Given the description of an element on the screen output the (x, y) to click on. 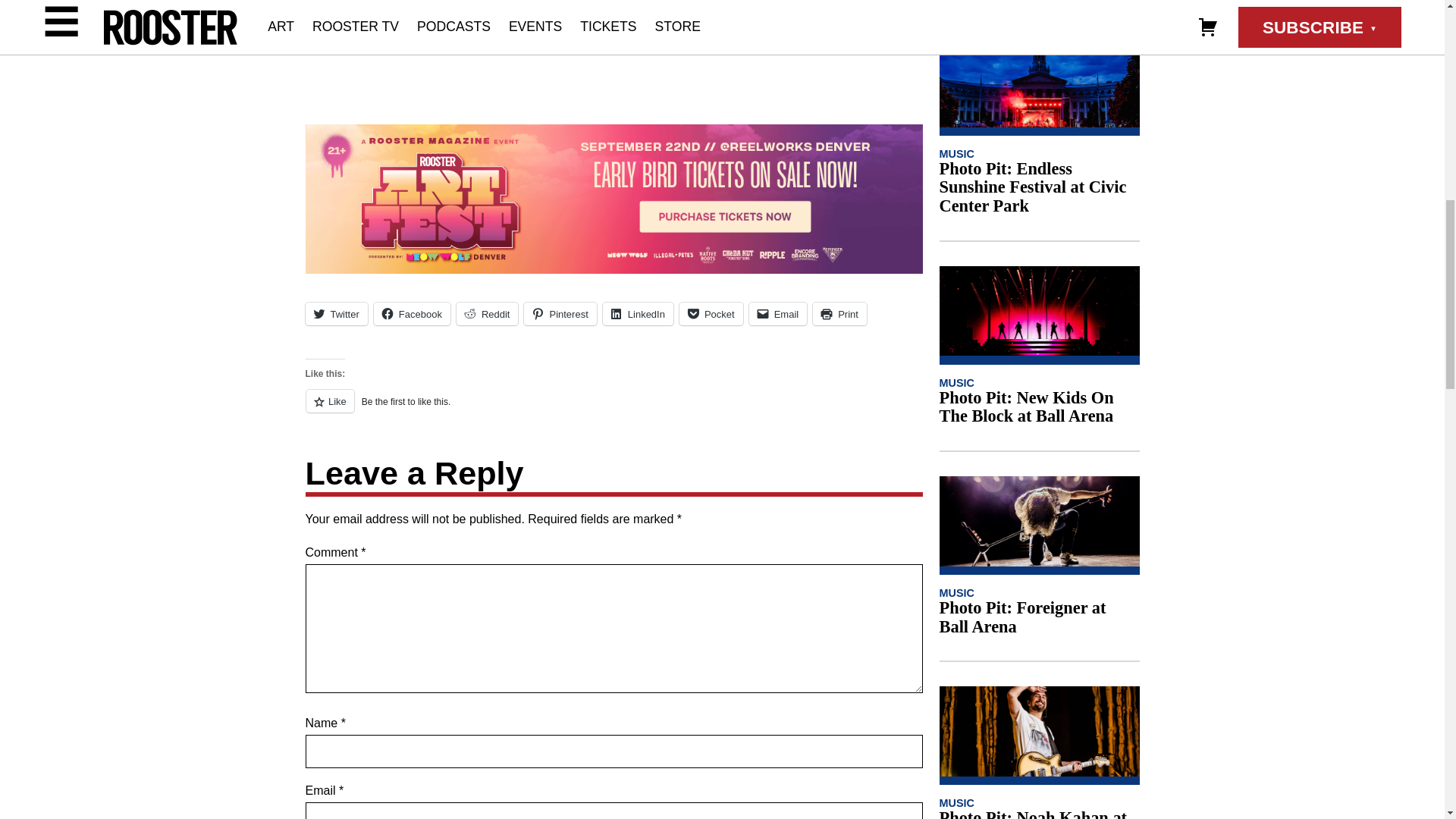
Click to share on LinkedIn (637, 313)
Click to share on Reddit (487, 313)
Click to share on Pinterest (559, 313)
Click to print (839, 313)
Click to email a link to a friend (778, 313)
Click to share on Facebook (411, 313)
Like or Reblog (612, 409)
Click to share on Pocket (710, 313)
Click to share on Twitter (335, 313)
